Given the description of an element on the screen output the (x, y) to click on. 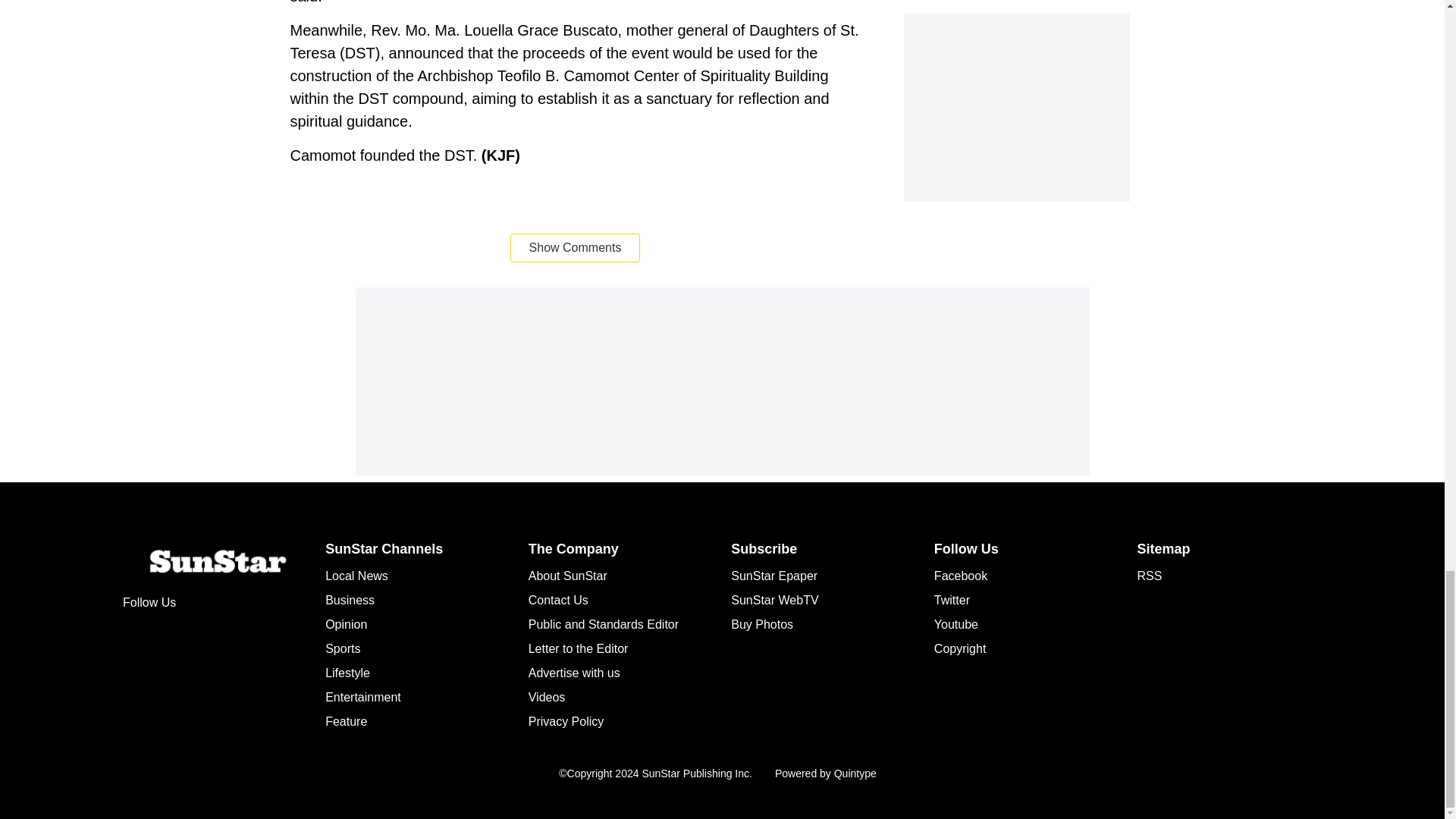
Business (349, 599)
Lifestyle (346, 672)
Opinion (345, 624)
Show Comments (575, 247)
Local News (356, 575)
Sports (341, 648)
